Given the description of an element on the screen output the (x, y) to click on. 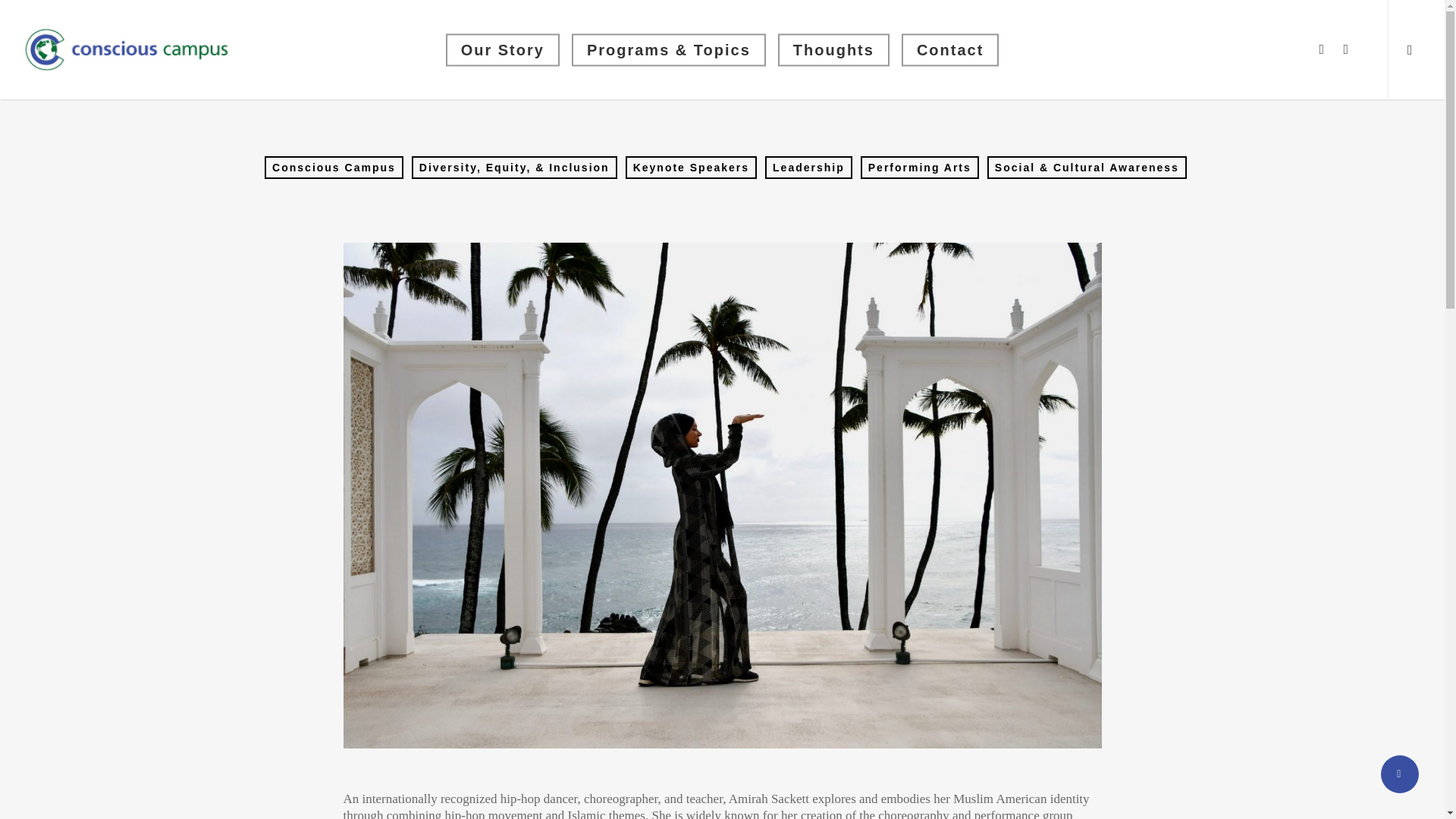
Thoughts (833, 49)
Keynote Speakers (691, 167)
Conscious Campus (333, 167)
Performing Arts (919, 167)
Our Story (502, 49)
Contact (949, 49)
Leadership (808, 167)
